Given the description of an element on the screen output the (x, y) to click on. 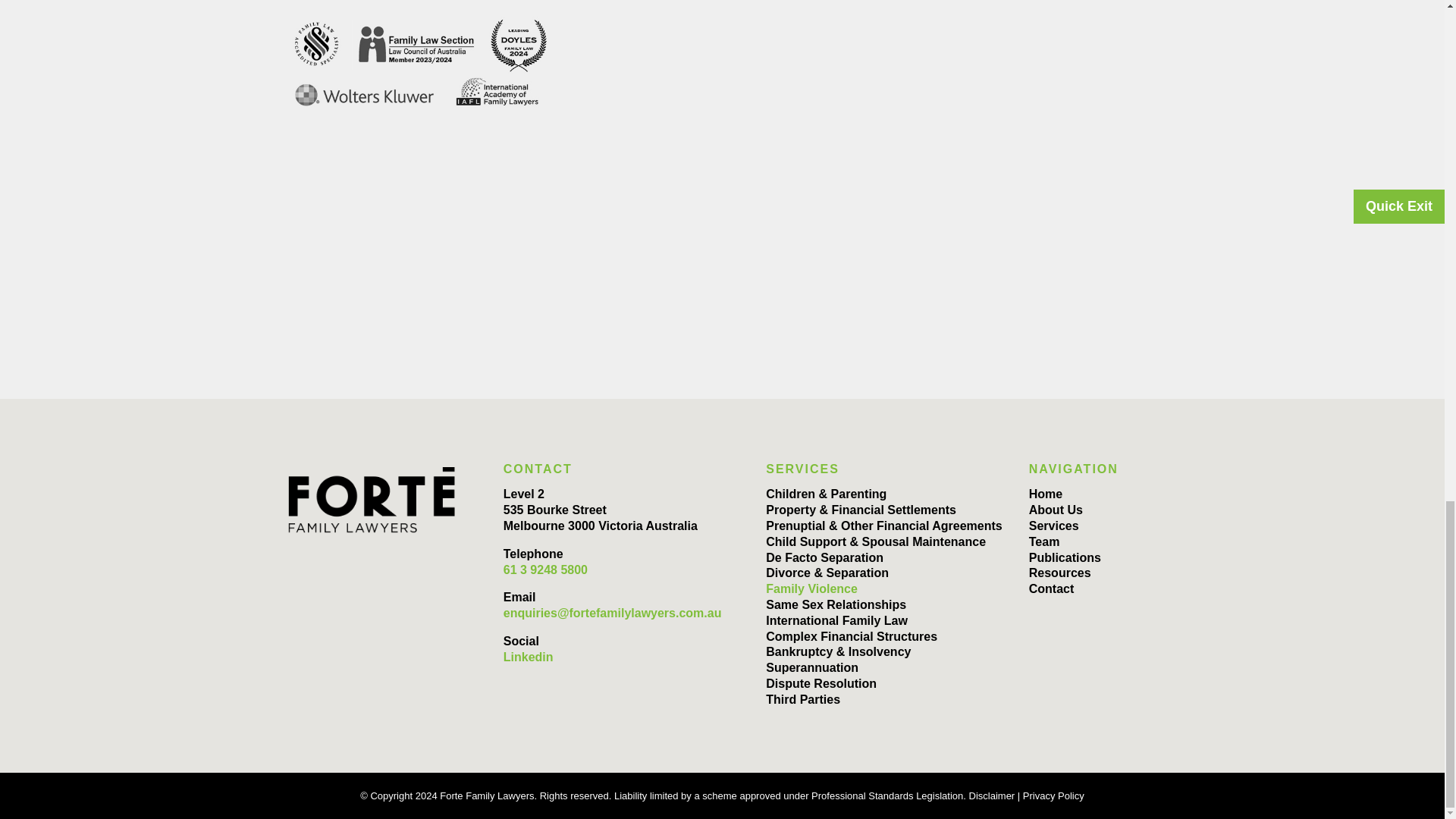
Forte-Logo-Mobile (371, 499)
Logos-Width-Contact (421, 63)
